Given the description of an element on the screen output the (x, y) to click on. 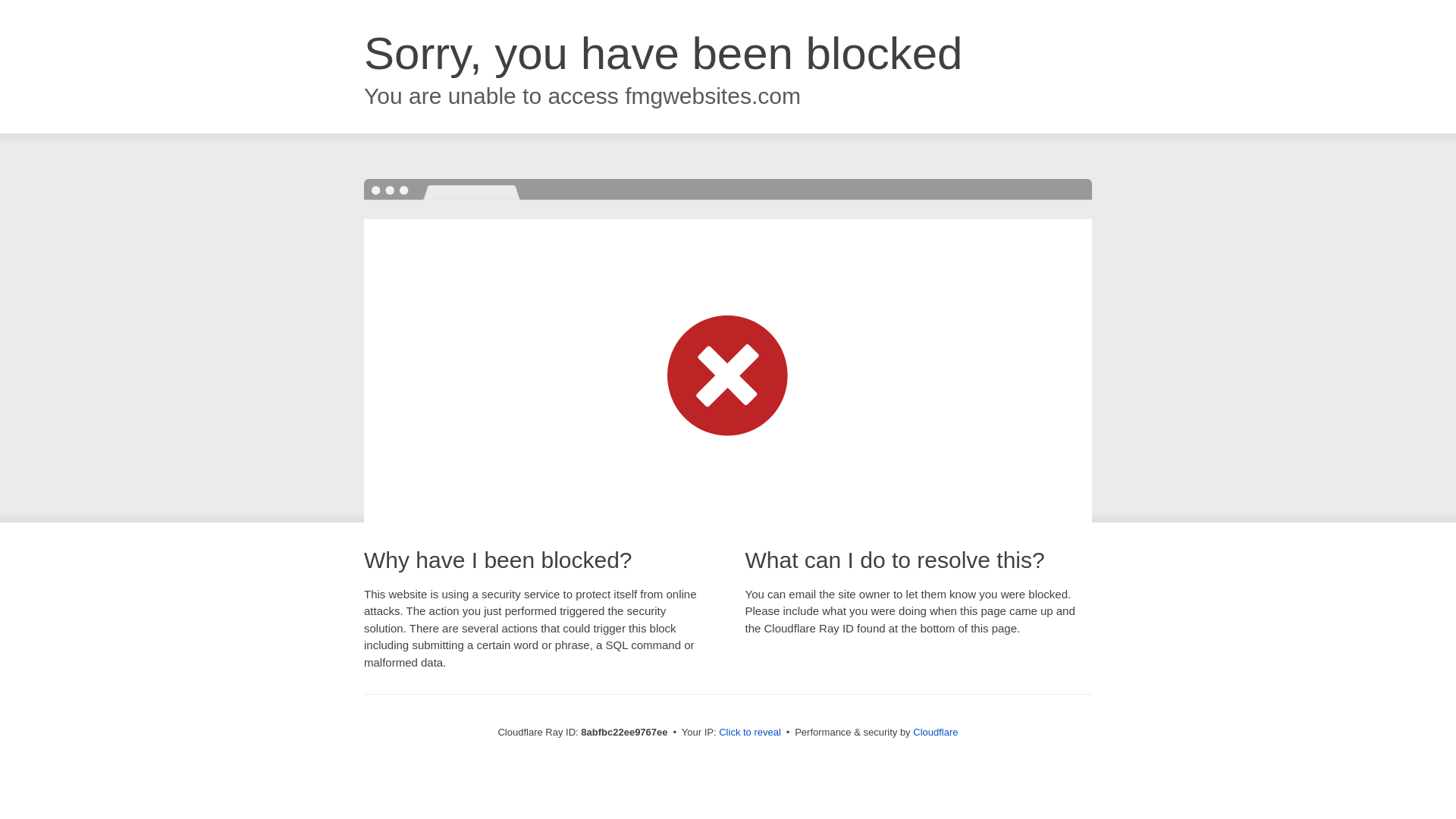
Click to reveal (749, 732)
Cloudflare (935, 731)
